Given the description of an element on the screen output the (x, y) to click on. 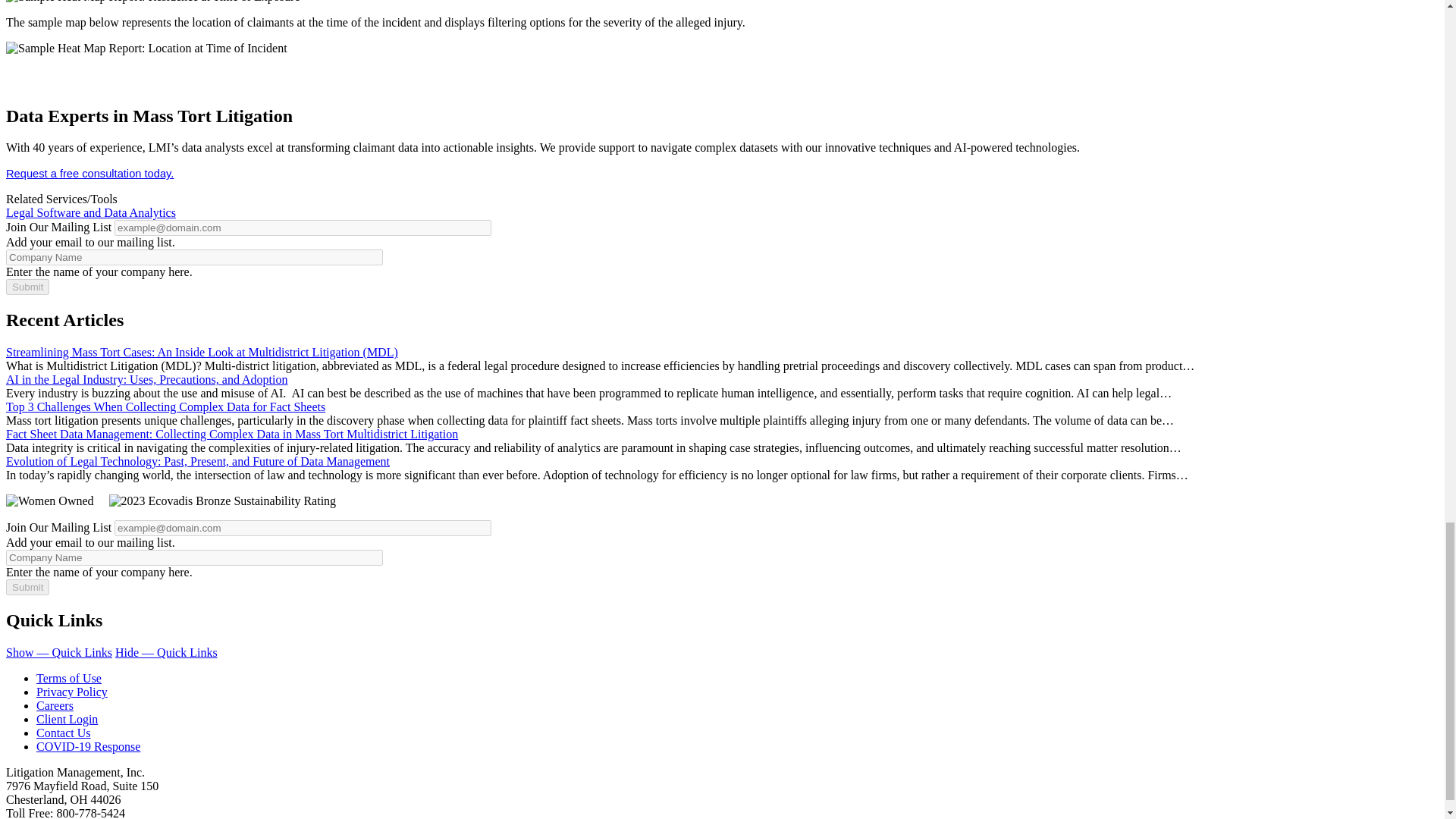
Request a free consultation today. (89, 173)
Legal Software and Data Analytics (90, 212)
AI in the Legal Industry: Uses, Precautions, and Adoption (146, 379)
Request a free consultation (89, 173)
Submit (27, 587)
Submit (27, 286)
Submit (27, 286)
